Given the description of an element on the screen output the (x, y) to click on. 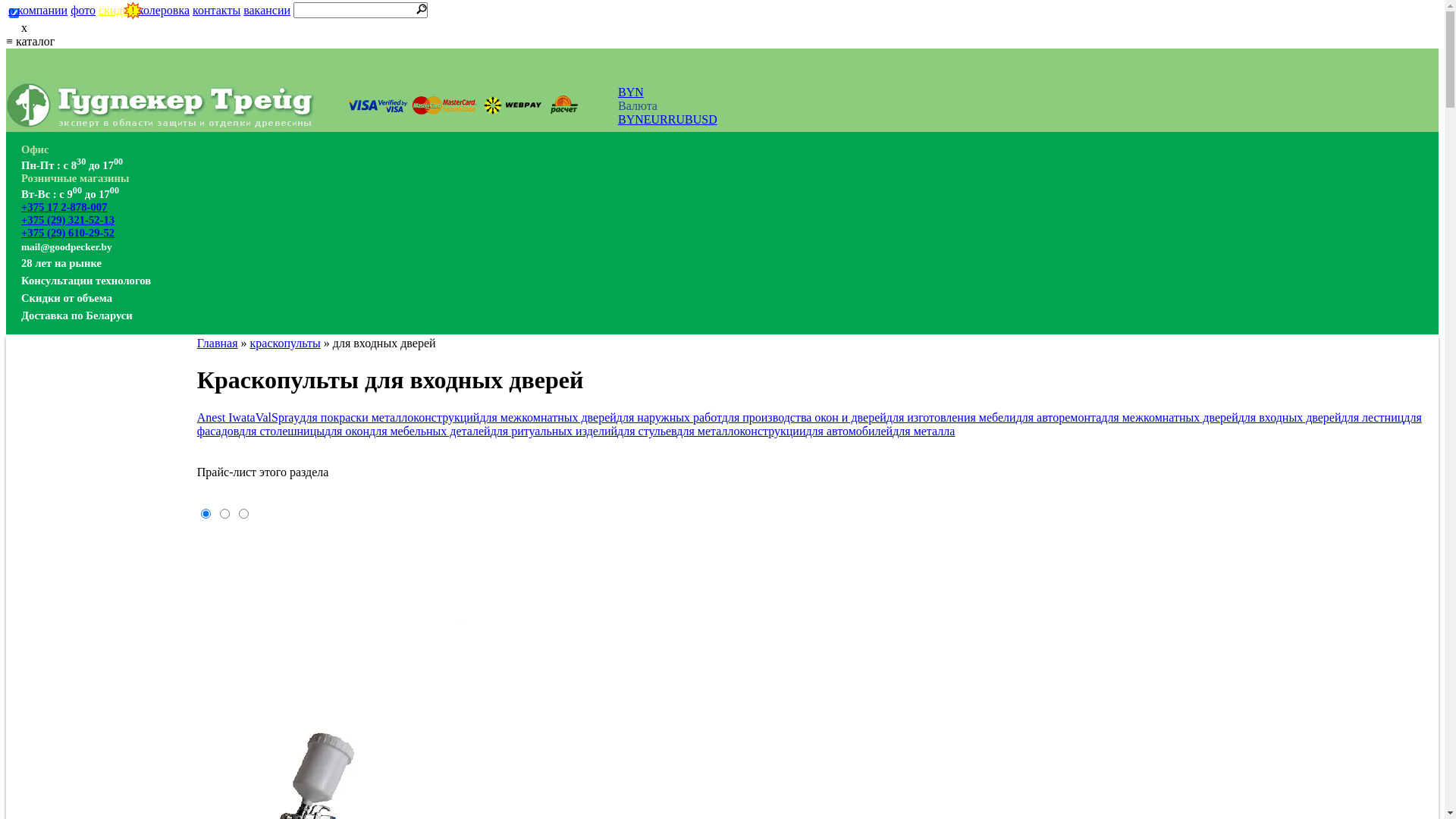
Anest Iwata Element type: text (226, 417)
+375 (29) 321-52-13 Element type: text (67, 219)
+375 (29) 610-29-52 Element type: text (67, 232)
x Element type: text (722, 27)
USD Element type: text (705, 118)
BYN Element type: text (630, 91)
+375 17 2-878-007 Element type: text (63, 206)
EUR Element type: text (655, 118)
RUB Element type: text (680, 118)
BYN Element type: text (630, 118)
ValSpray Element type: text (277, 417)
